Given the description of an element on the screen output the (x, y) to click on. 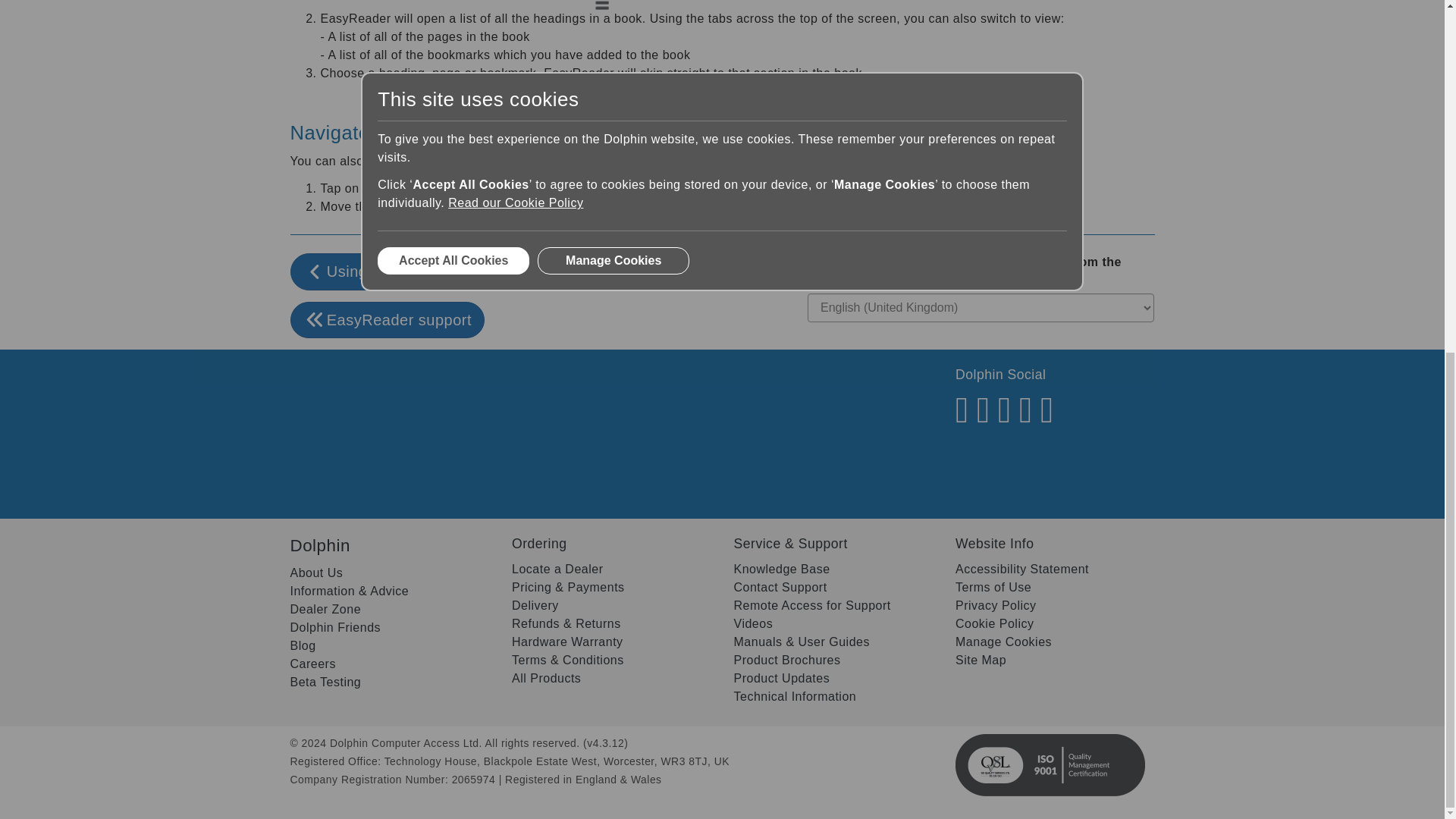
LinkedIn (1025, 418)
Select language (981, 307)
Form 0 (499, 442)
Facebook (962, 418)
YouTube (983, 418)
X (1004, 418)
Instagram (1047, 418)
